Given the description of an element on the screen output the (x, y) to click on. 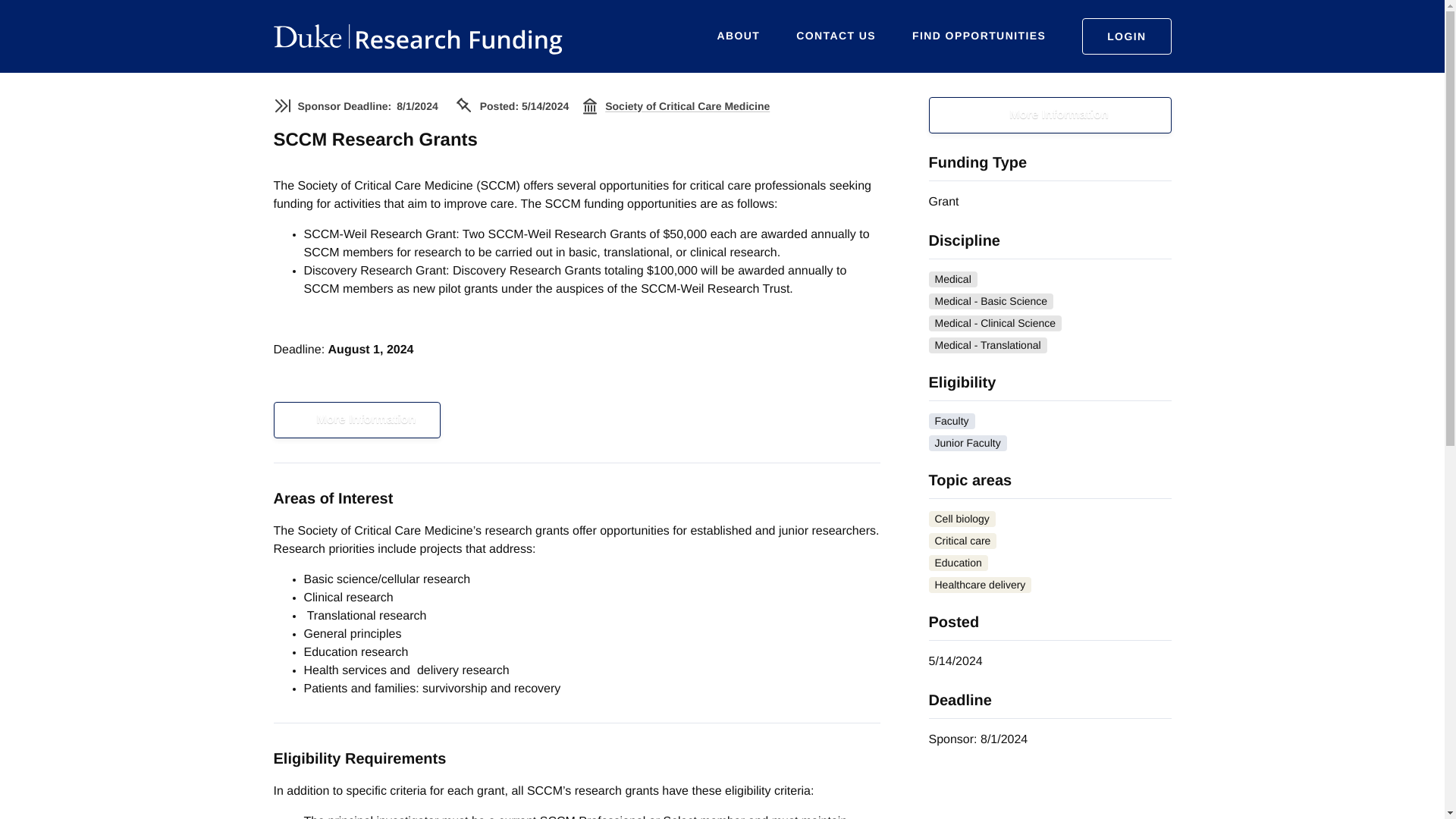
Faculty (951, 421)
Critical care (961, 540)
Society of Critical Care Medicine (687, 106)
More Information (1049, 115)
ABOUT (738, 35)
Grant (943, 201)
Education (957, 562)
More Information (357, 420)
Cell biology (961, 519)
Medical - Translational (987, 344)
Medical (952, 279)
Junior Faculty (967, 442)
LOGIN (1125, 36)
FIND OPPORTUNITIES (978, 35)
